Given the description of an element on the screen output the (x, y) to click on. 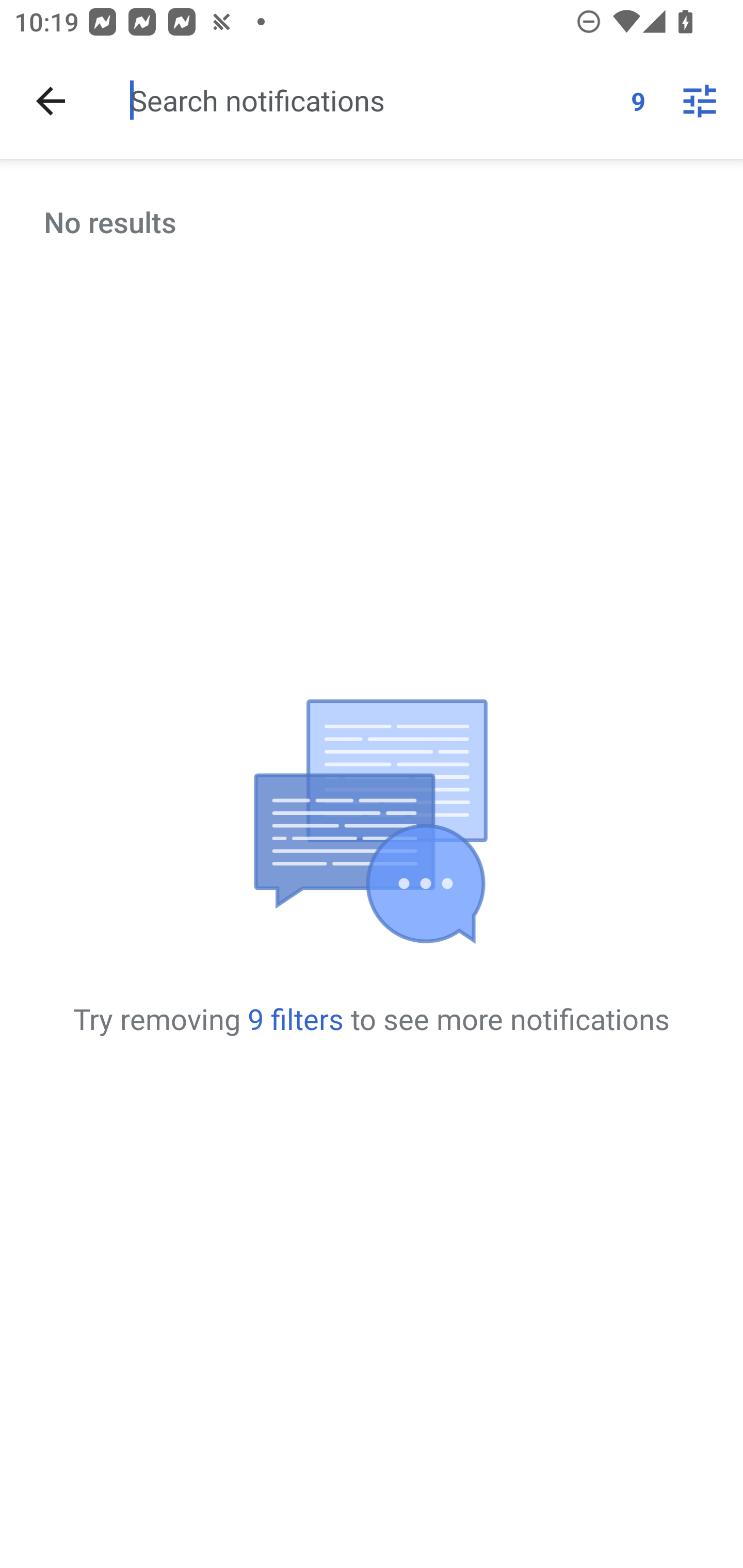
Done (50, 101)
More (699, 101)
Search notifications (373, 100)
